Given the description of an element on the screen output the (x, y) to click on. 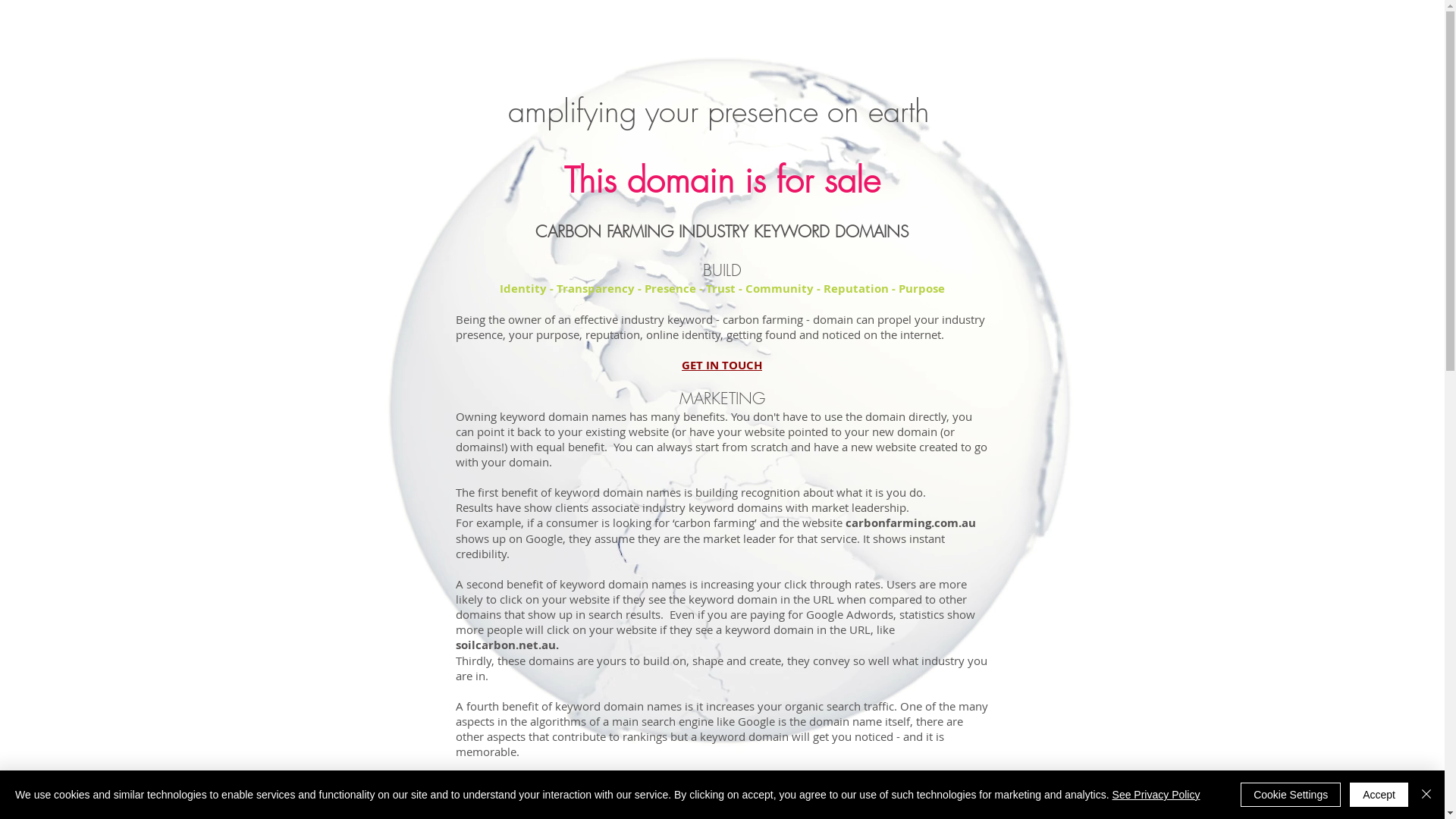
See Privacy Policy Element type: text (1156, 794)
GET IN TOUCH Element type: text (721, 364)
Accept Element type: text (1378, 794)
Cookie Settings Element type: text (1290, 794)
